Given the description of an element on the screen output the (x, y) to click on. 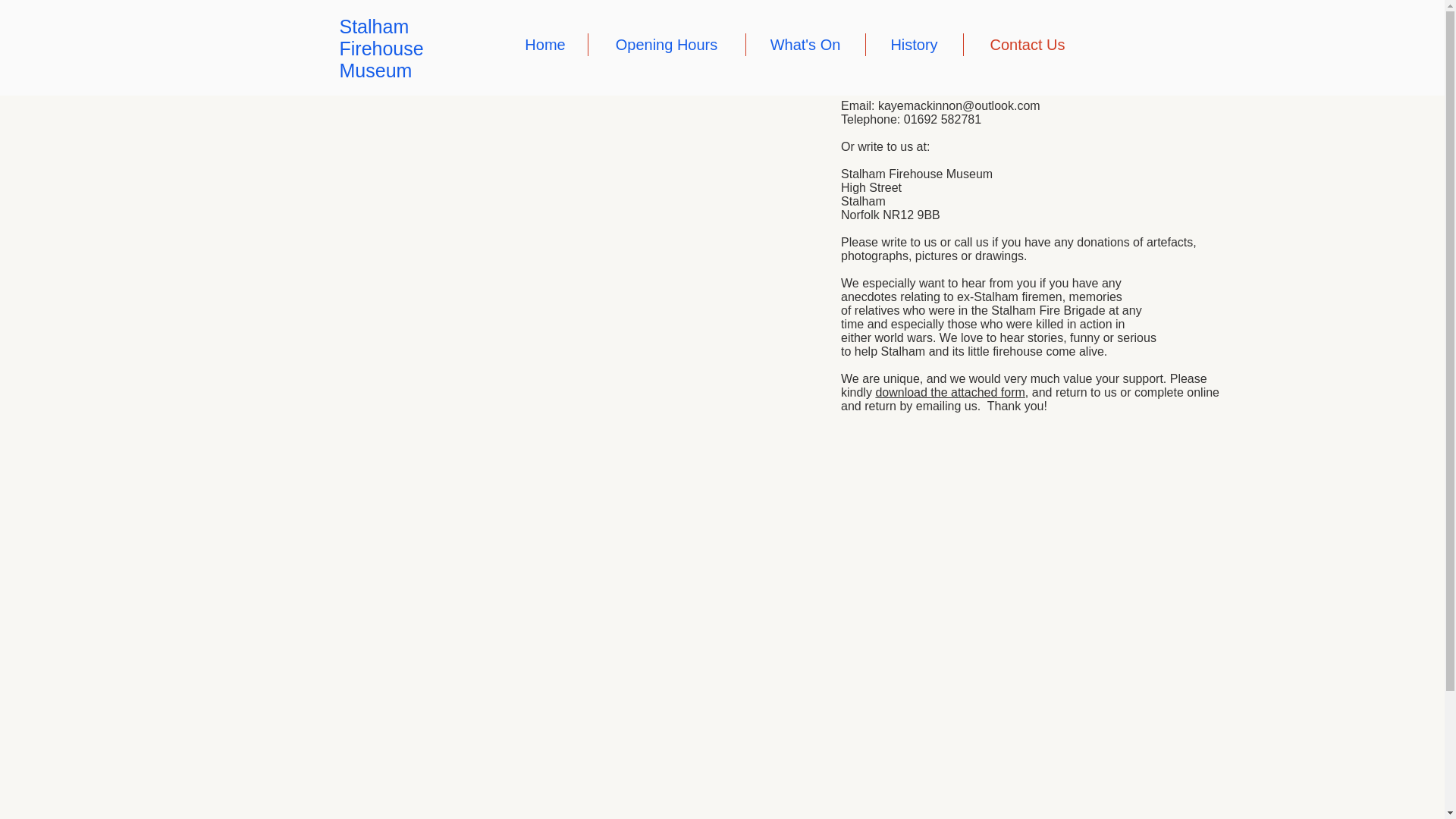
Contact Us (1027, 44)
History (913, 44)
What's On (804, 44)
Home (545, 44)
Please do contact us with enquiries.   (941, 78)
Stalham Firehouse Museum (381, 48)
Opening Hours (665, 44)
download the attached form (950, 391)
